Given the description of an element on the screen output the (x, y) to click on. 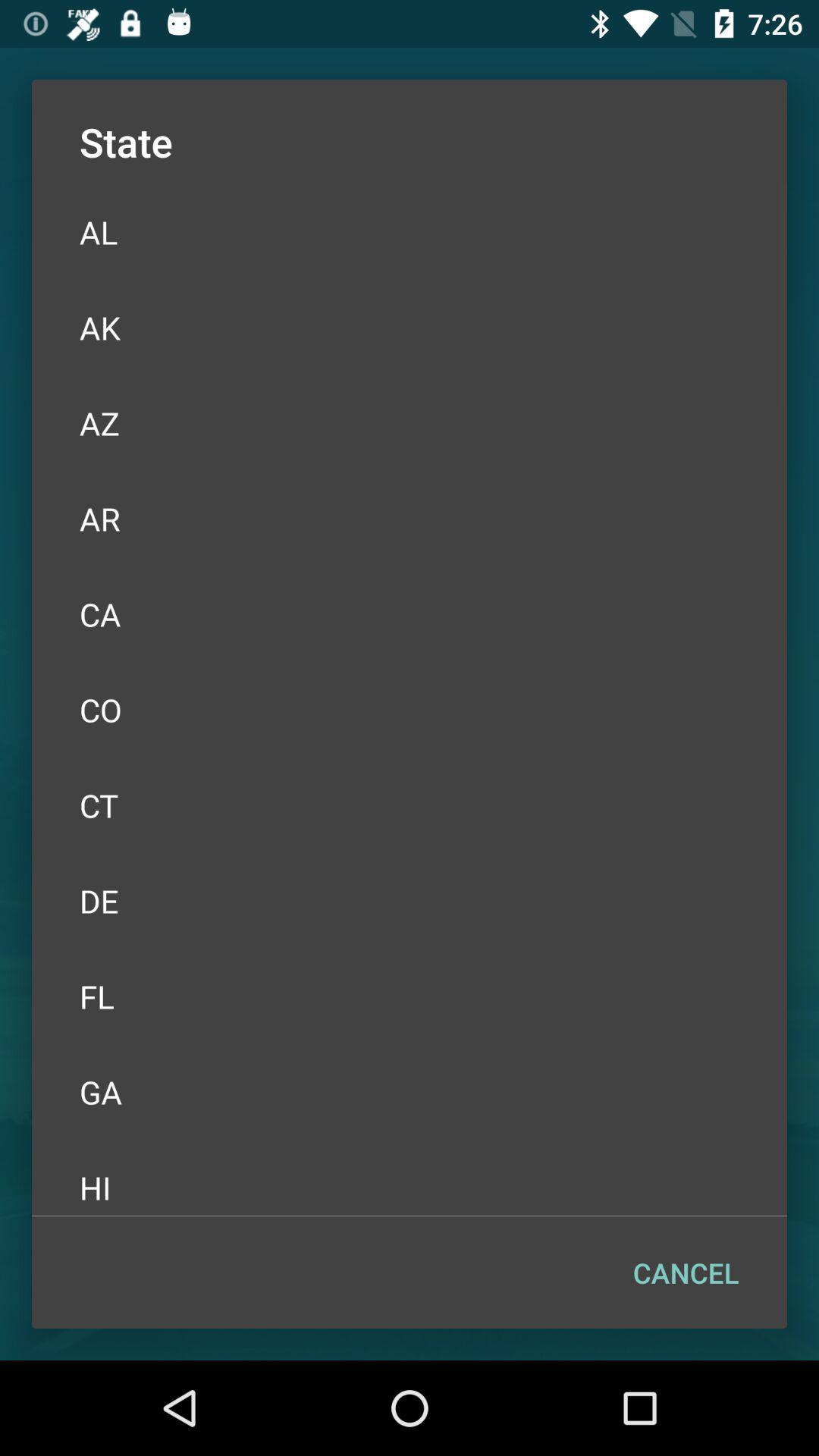
select icon above ct icon (409, 709)
